Given the description of an element on the screen output the (x, y) to click on. 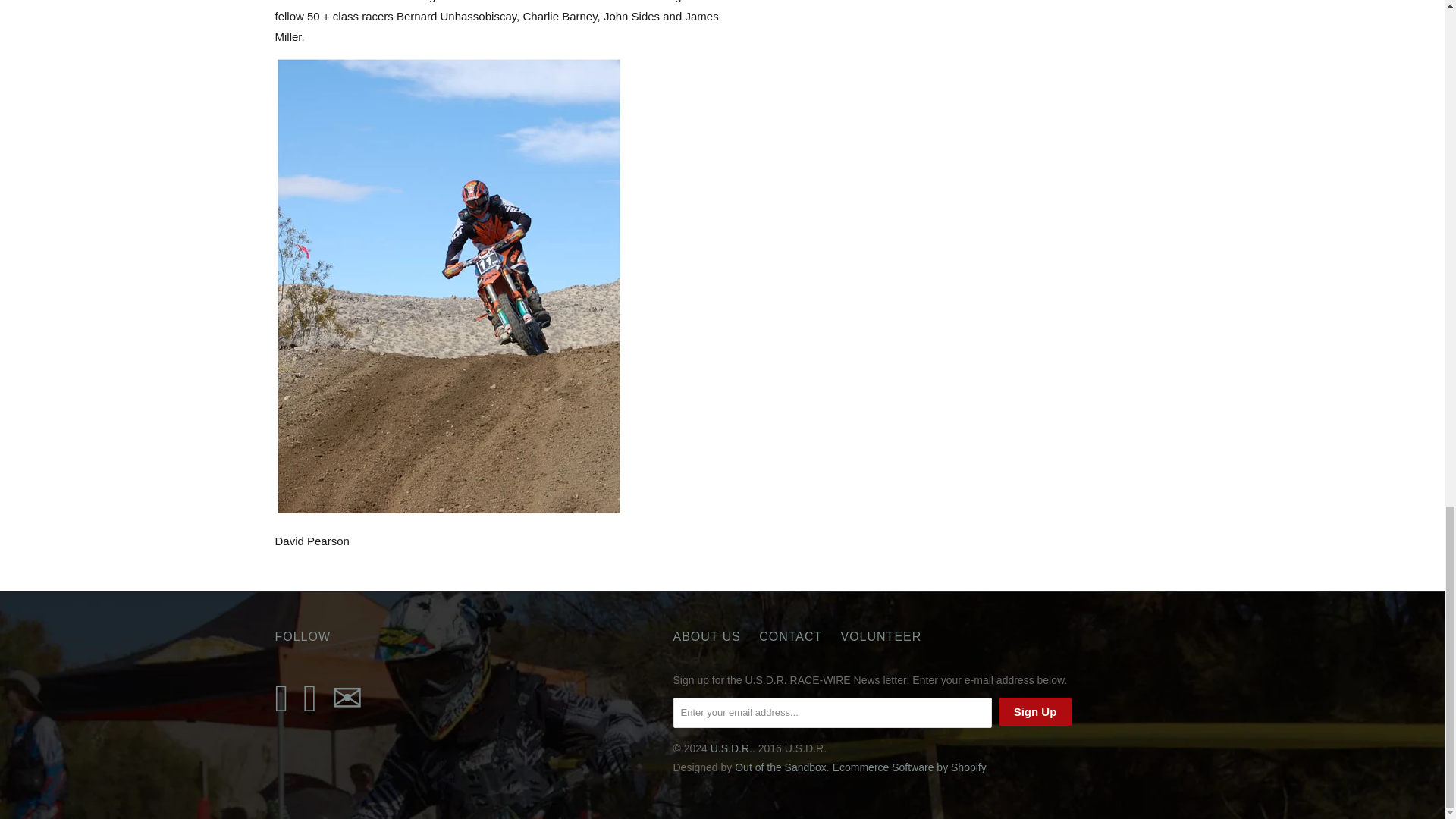
Email U.S.D.R. (346, 698)
Sign Up (1034, 711)
Parallax Shopify Theme by Out of the Sandbox (781, 767)
